Given the description of an element on the screen output the (x, y) to click on. 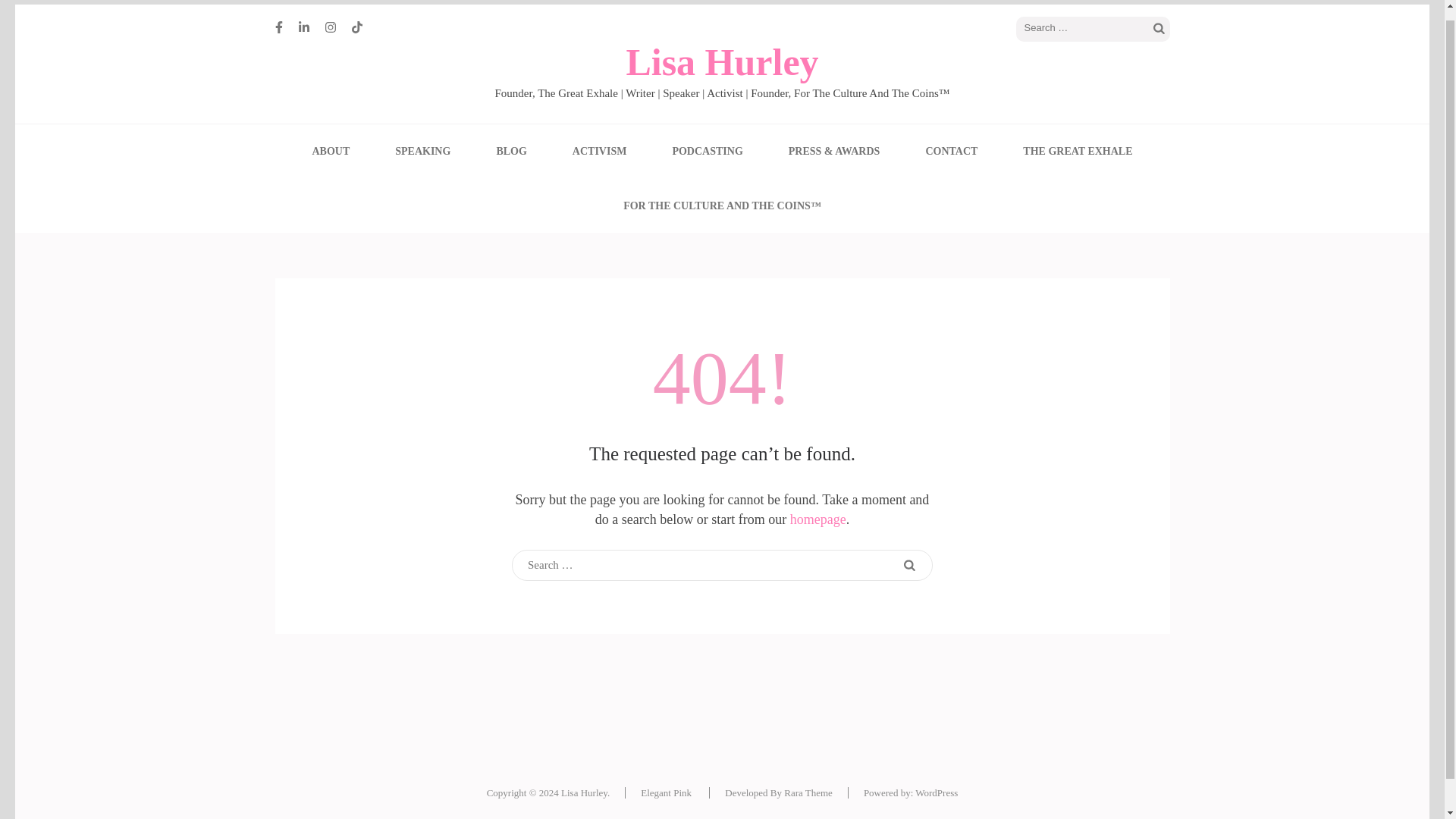
Lisa Hurley (722, 61)
SPEAKING (421, 150)
Search (1158, 29)
Search (909, 565)
THE GREAT EXHALE (1077, 150)
Lisa Hurley (583, 792)
WordPress (936, 792)
CONTACT (950, 150)
Search (1158, 29)
ACTIVISM (599, 150)
Rara Theme (808, 792)
Search (1158, 29)
Search (909, 565)
homepage (817, 519)
PODCASTING (706, 150)
